Given the description of an element on the screen output the (x, y) to click on. 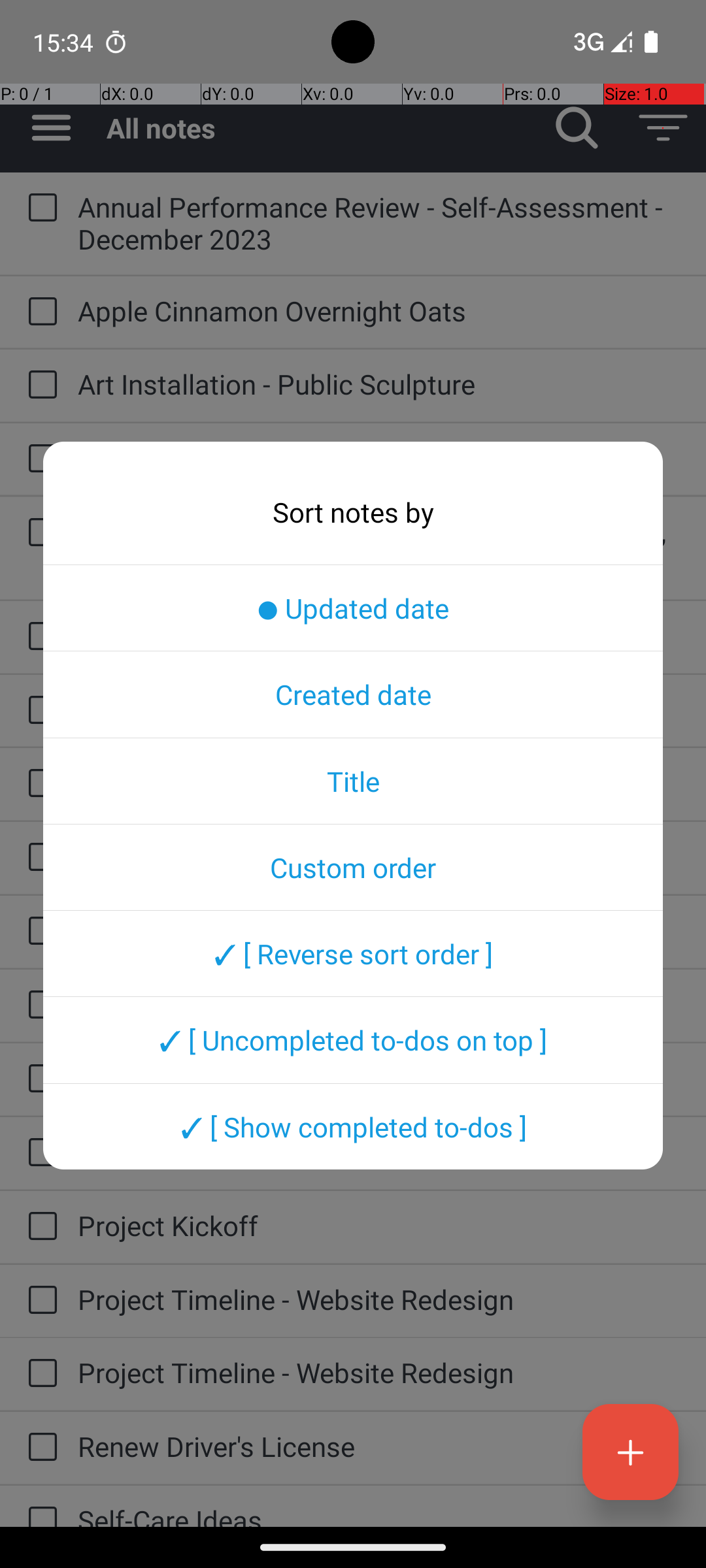
⬤ Updated date Element type: android.widget.TextView (352, 607)
Created date Element type: android.widget.TextView (352, 693)
Custom order Element type: android.widget.TextView (352, 866)
✓ [ Reverse sort order ] Element type: android.widget.TextView (352, 953)
✓ [ Uncompleted to-dos on top ] Element type: android.widget.TextView (352, 1039)
✓ [ Show completed to-dos ] Element type: android.widget.TextView (352, 1126)
to-do: Apple Cinnamon Overnight Oats Element type: android.widget.CheckBox (38, 312)
to-do: Art Installation - Public Sculpture Element type: android.widget.CheckBox (38, 385)
Art Installation - Public Sculpture Element type: android.widget.TextView (378, 383)
to-do: Beef Stir-Fry Element type: android.widget.CheckBox (38, 459)
Beef Stir-Fry Element type: android.widget.TextView (378, 457)
to-do: Board Meeting - Q1 Financial Results - March 28, 2024 Element type: android.widget.CheckBox (38, 533)
to-do: Client Project Update Element type: android.widget.CheckBox (38, 637)
Client Project Update Element type: android.widget.TextView (378, 634)
to-do: DIY Furniture Building - Coffee Table Element type: android.widget.CheckBox (38, 710)
DIY Furniture Building - Coffee Table Element type: android.widget.TextView (378, 708)
to-do: Festivals and Events Calendar - Europe Element type: android.widget.CheckBox (38, 783)
Festivals and Events Calendar - Europe Element type: android.widget.TextView (378, 781)
to-do: Photography Portfolio Website Element type: android.widget.CheckBox (38, 1079)
Photography Portfolio Website Element type: android.widget.TextView (378, 1077)
to-do: Renew Driver's License Element type: android.widget.CheckBox (38, 1447)
to-do: Self-Care Ideas Element type: android.widget.CheckBox (38, 1505)
